Given the description of an element on the screen output the (x, y) to click on. 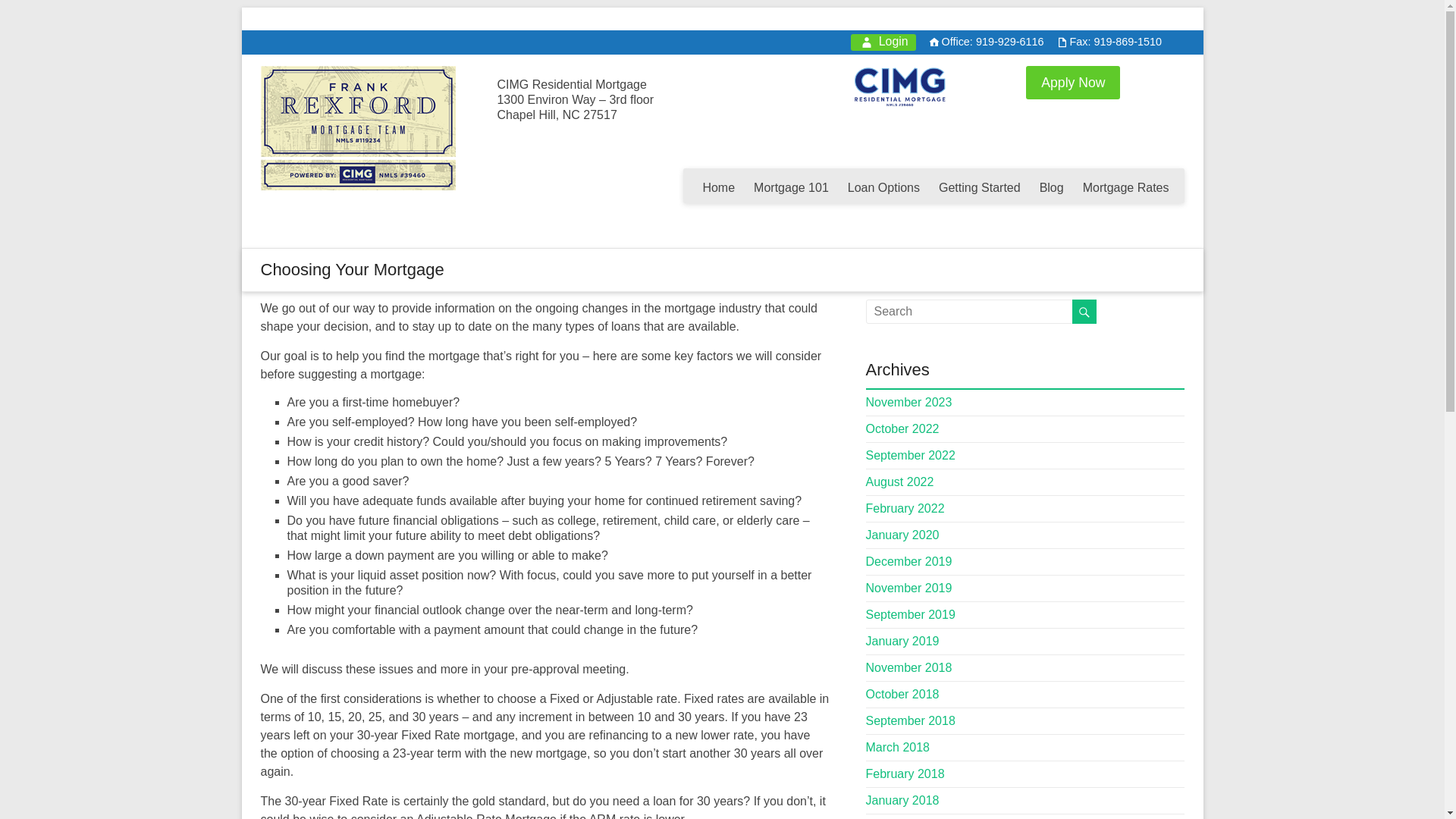
November 2023 (909, 401)
March 2018 (898, 747)
Mortgage 101 (791, 185)
November 2018 (909, 667)
Mortgage Rates (1126, 185)
January 2019 (902, 640)
October 2022 (902, 428)
September 2022 (910, 454)
Apply Now (1072, 82)
January 2020 (902, 534)
